Given the description of an element on the screen output the (x, y) to click on. 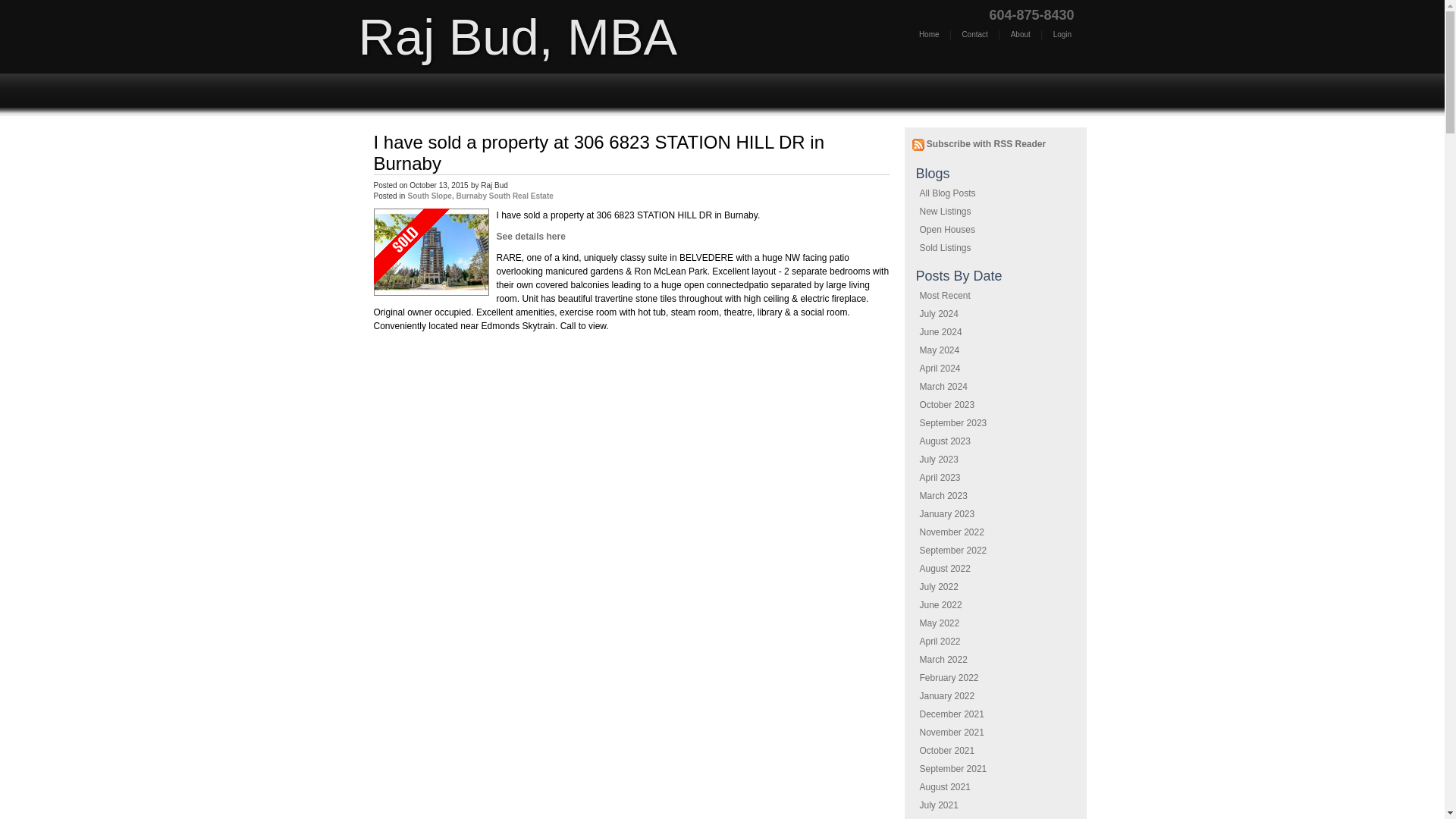
January 2023 (946, 513)
Contact (973, 34)
September 2023 (952, 422)
March 2023 (942, 495)
Sold Listings (944, 247)
June 2024 (939, 331)
July 2023 (938, 459)
Login (1061, 34)
Home (389, 90)
May 2024 (938, 349)
Most Recent (943, 295)
New Listings (944, 211)
July 2024 (938, 313)
Home (389, 90)
April 2024 (938, 368)
